Given the description of an element on the screen output the (x, y) to click on. 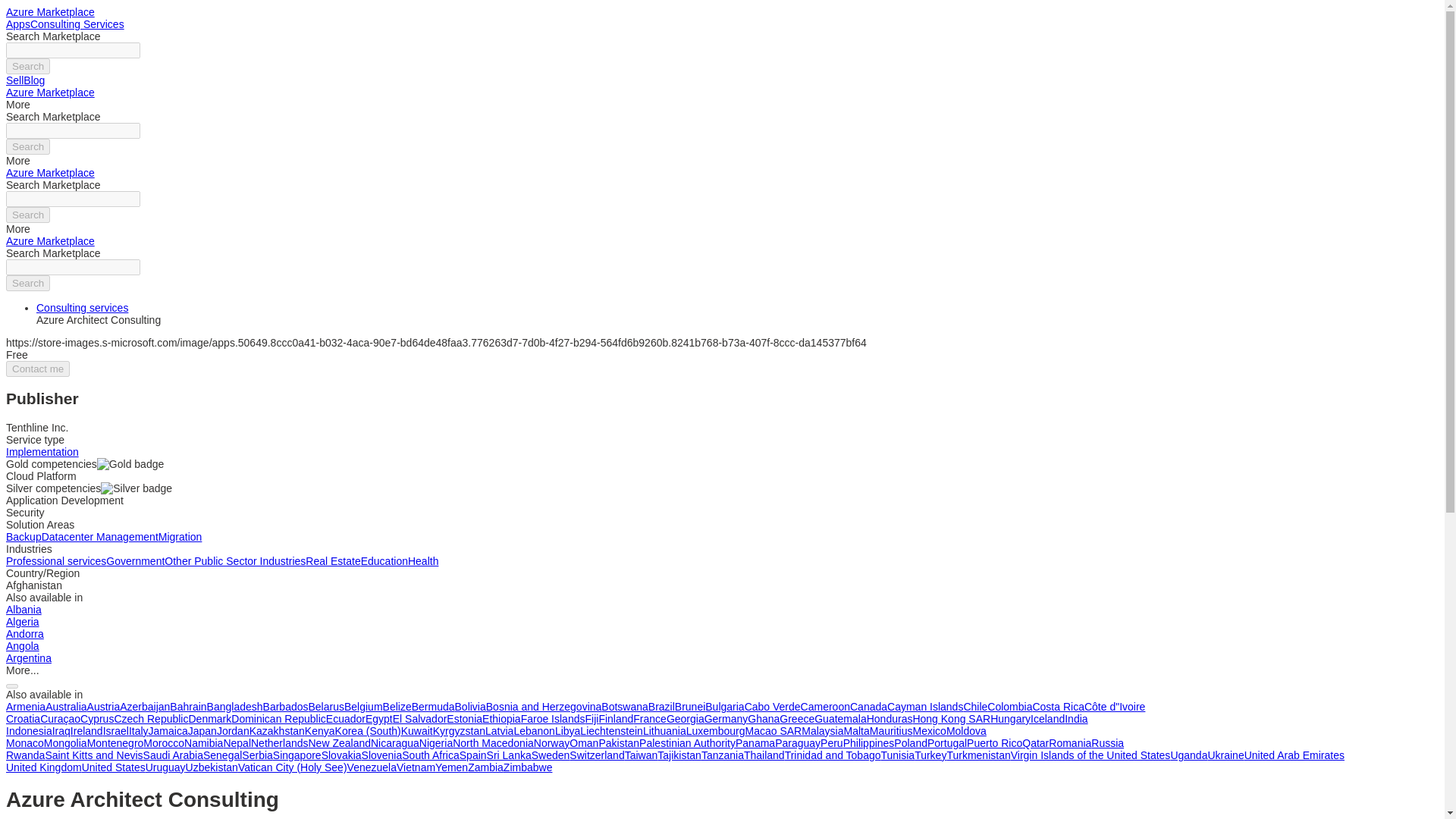
Albania (23, 609)
Azure Marketplace (49, 241)
Sell (14, 80)
Azure Marketplace (49, 11)
Andorra (24, 633)
Search (27, 283)
Azure Marketplace (49, 92)
Angola (22, 645)
Search (27, 146)
Apps (17, 24)
Datacenter Management (100, 536)
Argentina (27, 657)
Consulting Services (76, 24)
Azure Marketplace (49, 173)
Professional services (55, 561)
